Given the description of an element on the screen output the (x, y) to click on. 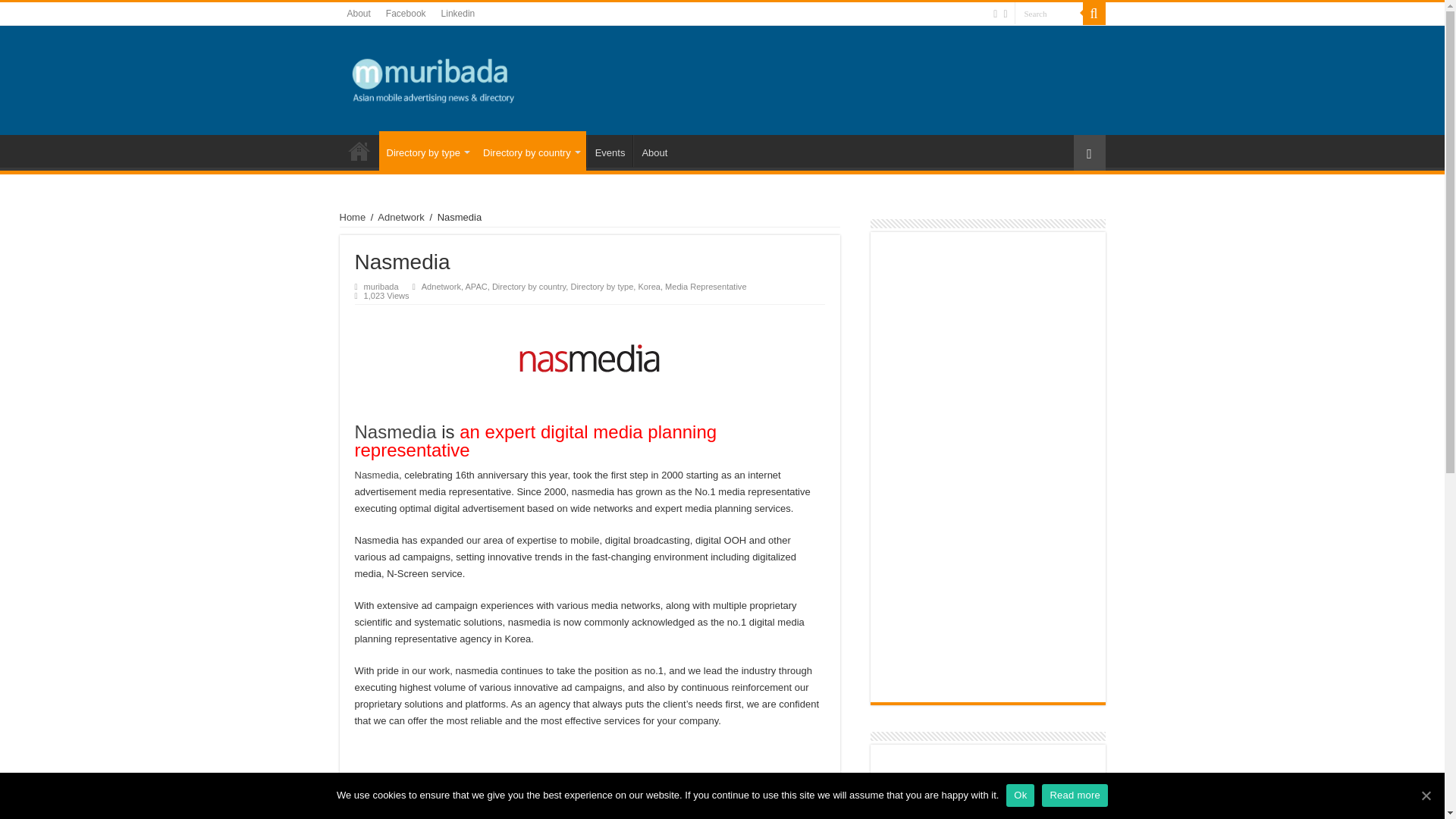
Page 1 (590, 812)
Page 1 (590, 789)
Search (1048, 13)
Advertisement (987, 785)
muribada (433, 76)
Search (1048, 13)
Search (1048, 13)
Advertisement (971, 78)
